Given the description of an element on the screen output the (x, y) to click on. 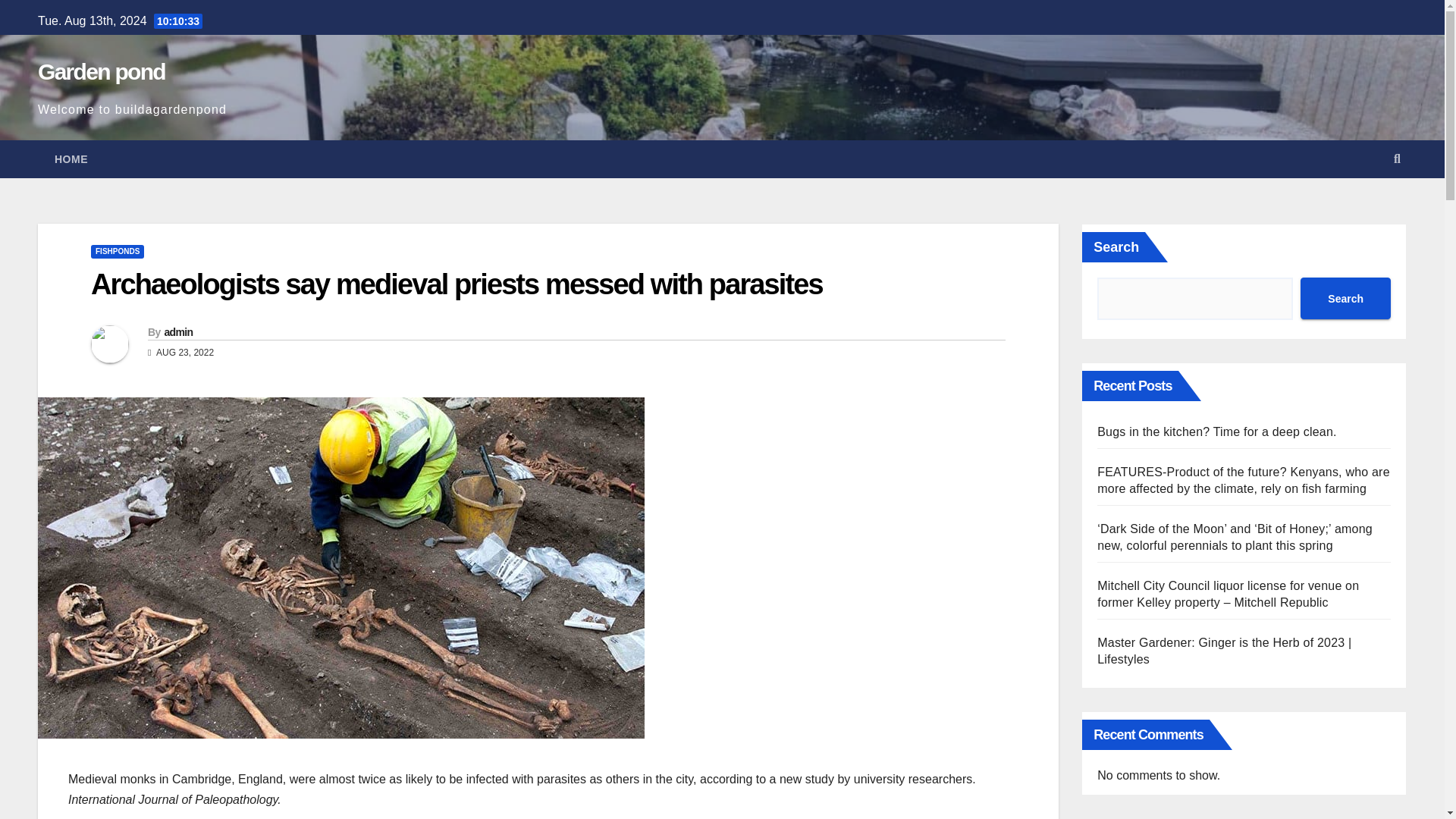
HOME (70, 159)
Search (1345, 298)
Bugs in the kitchen? Time for a deep clean. (1216, 431)
Archaeologists say medieval priests messed with parasites (456, 284)
FISHPONDS (117, 251)
Garden pond (101, 71)
admin (177, 331)
Home (70, 159)
